Given the description of an element on the screen output the (x, y) to click on. 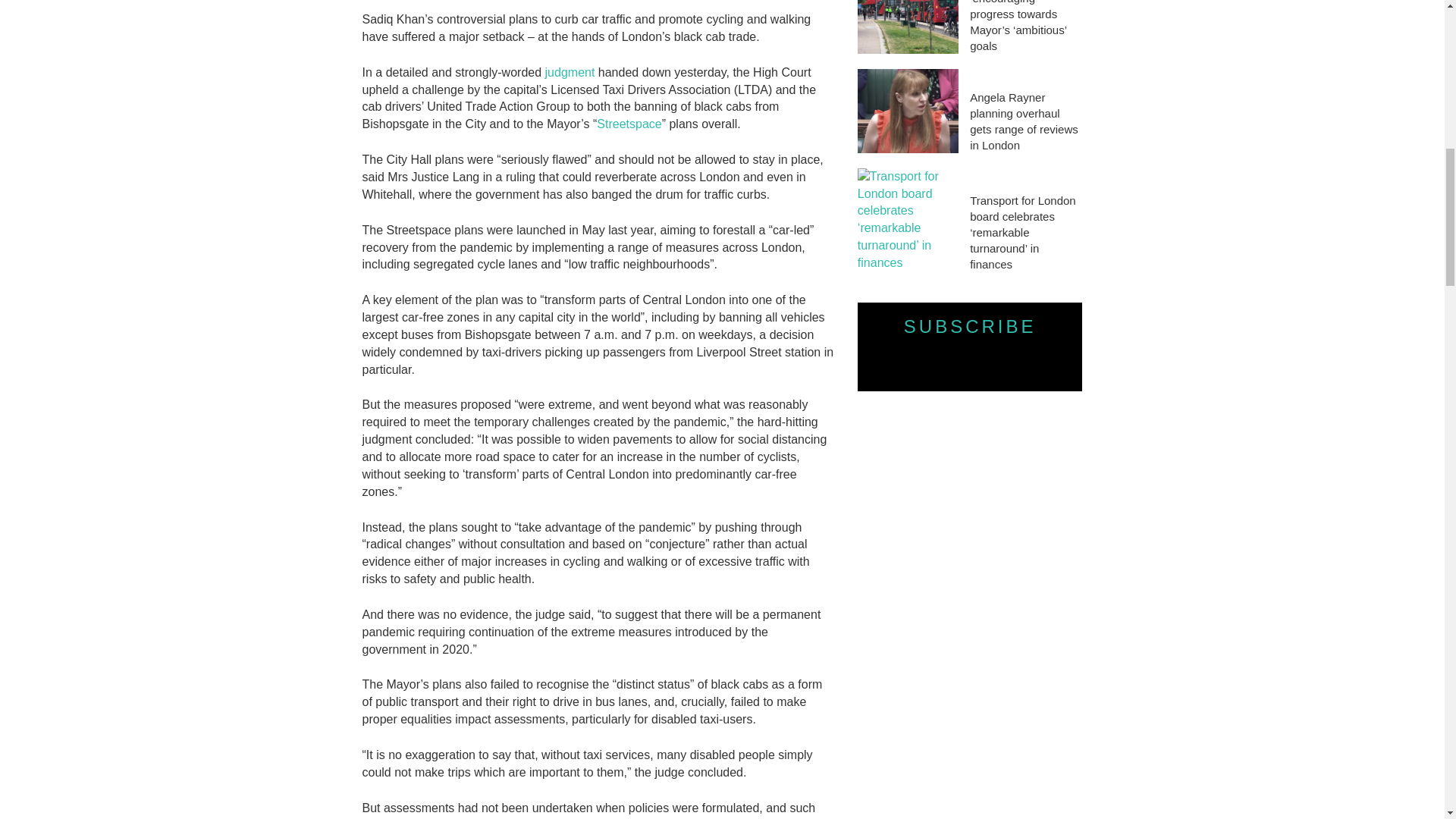
judgment (569, 72)
Streetspace (628, 123)
